Given the description of an element on the screen output the (x, y) to click on. 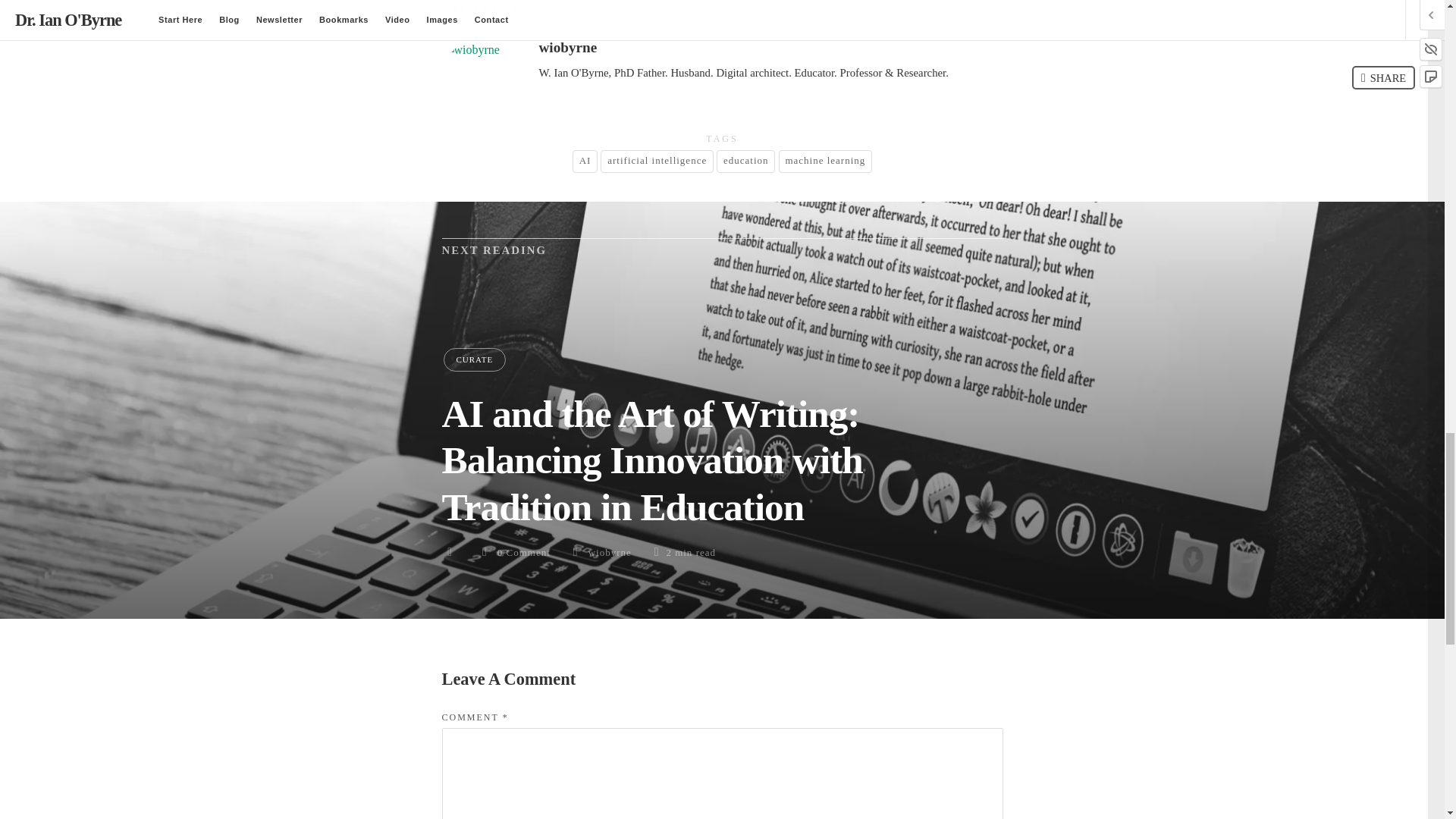
machine learning (825, 160)
artificial intelligence (656, 160)
wiobyrne (609, 552)
0 Comment (523, 552)
CURATE (473, 359)
education (745, 160)
AI (584, 160)
